Given the description of an element on the screen output the (x, y) to click on. 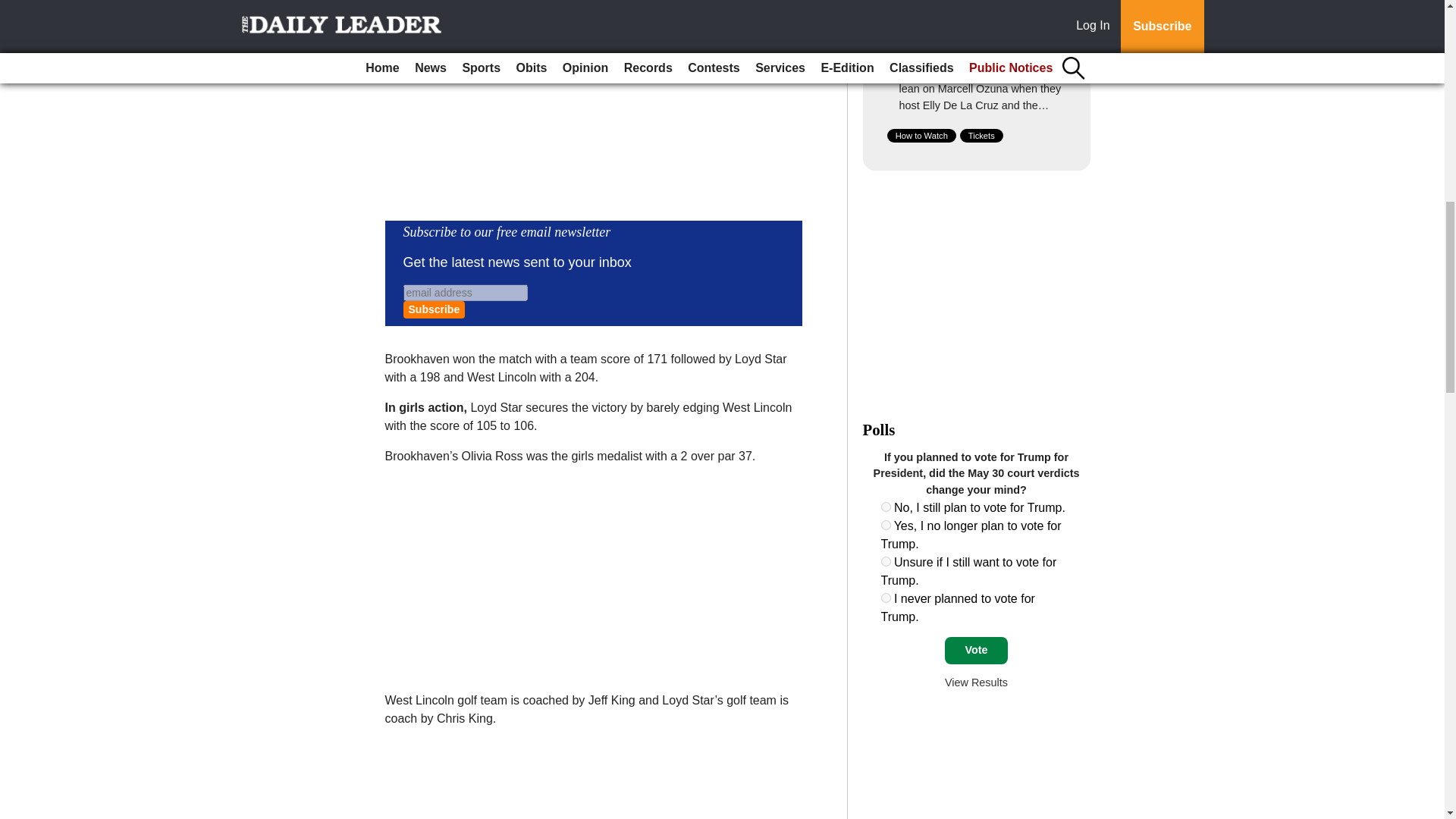
Braves vs. Reds: Betting Preview for July 23 (962, 44)
848 (885, 561)
Tickets (981, 135)
847 (885, 524)
How to Watch (921, 135)
849 (885, 597)
   Vote    (975, 650)
Subscribe (434, 309)
View Results Of This Poll (975, 682)
Subscribe (434, 309)
846 (885, 506)
